Given the description of an element on the screen output the (x, y) to click on. 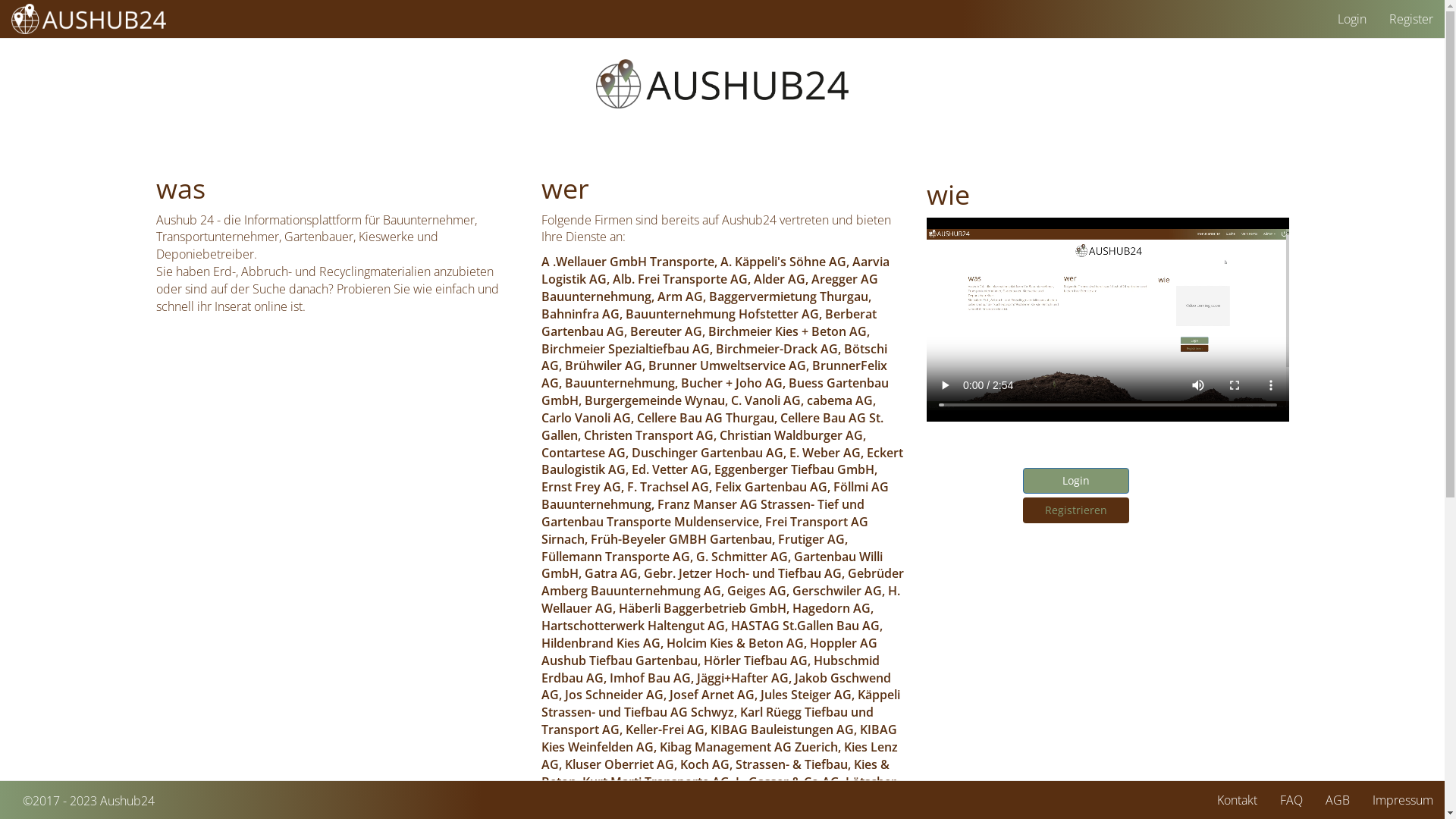
Login Element type: text (1351, 18)
Login Element type: text (1075, 480)
Register Element type: text (1410, 18)
Registrieren Element type: text (1075, 510)
